Given the description of an element on the screen output the (x, y) to click on. 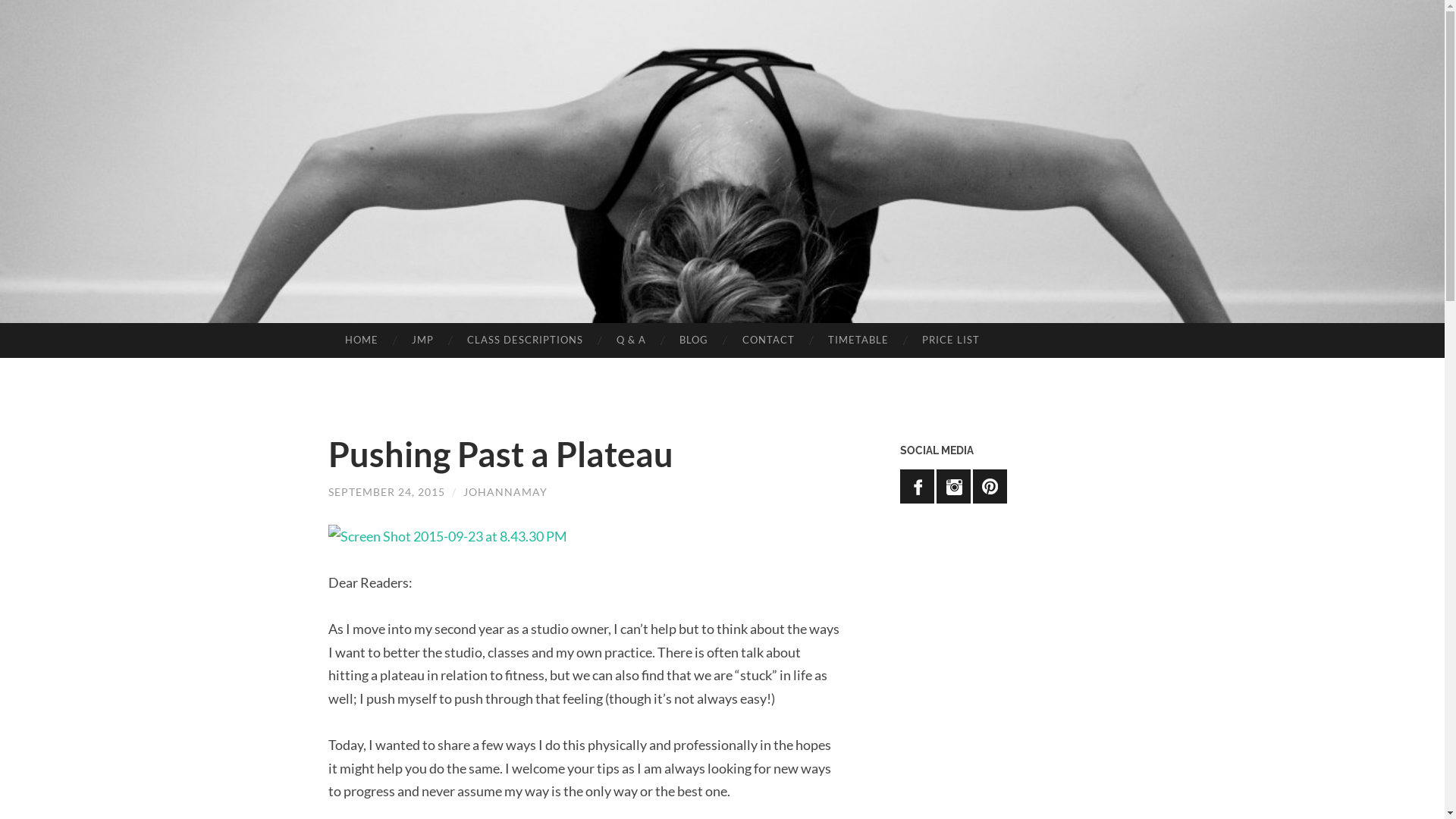
TIMETABLE Element type: text (858, 340)
Q & A Element type: text (630, 340)
BLOG Element type: text (693, 340)
JMP Element type: text (422, 340)
SEPTEMBER 24, 2015 Element type: text (385, 491)
CLASS DESCRIPTIONS Element type: text (524, 340)
HOME Element type: text (360, 340)
PRICE LIST Element type: text (950, 340)
CONTACT Element type: text (767, 340)
SKIP TO CONTENT Element type: text (65, 343)
JOHANNAMAY Element type: text (504, 491)
